Given the description of an element on the screen output the (x, y) to click on. 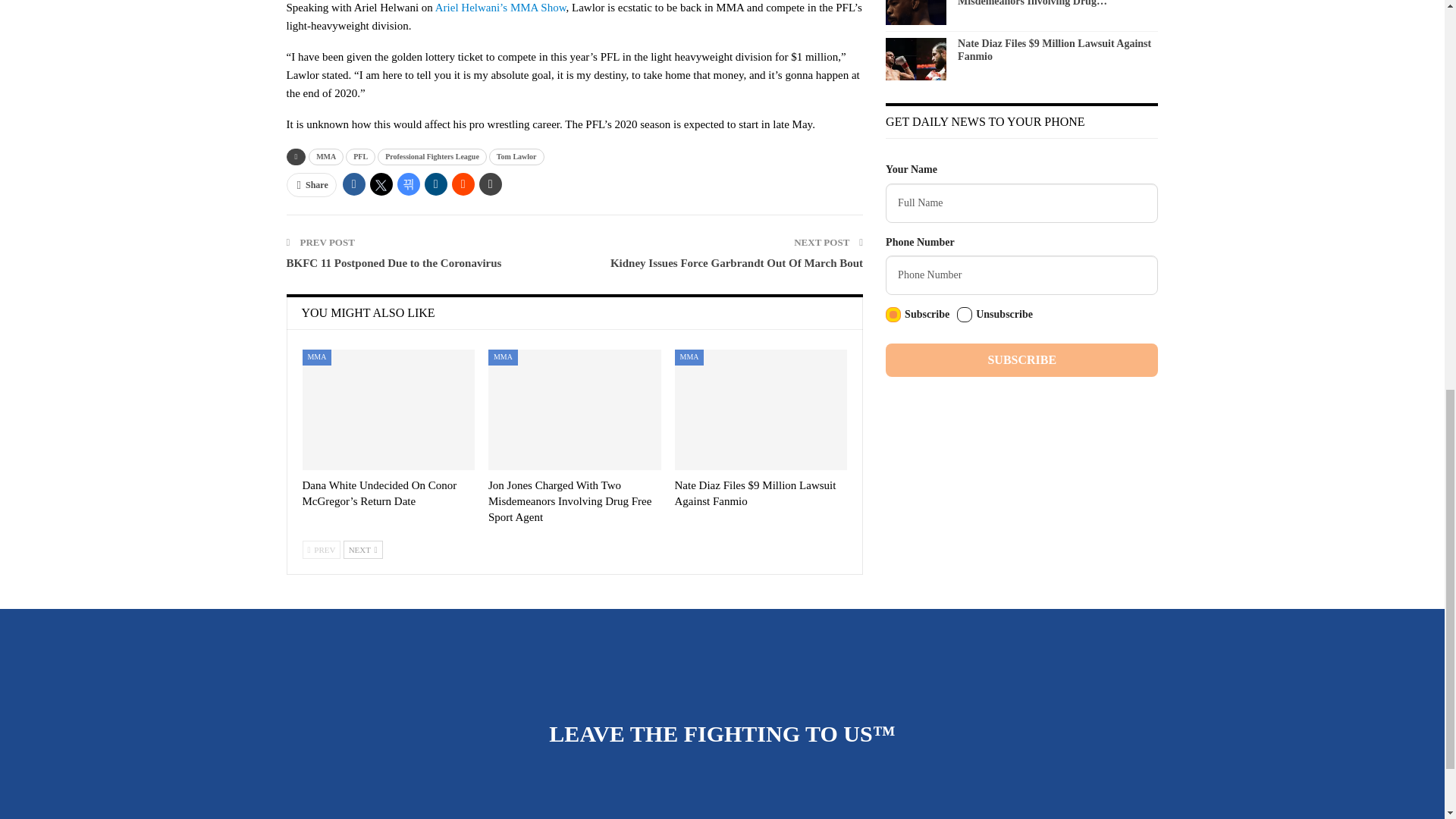
subscribe (893, 314)
unsubscribe (964, 314)
